Given the description of an element on the screen output the (x, y) to click on. 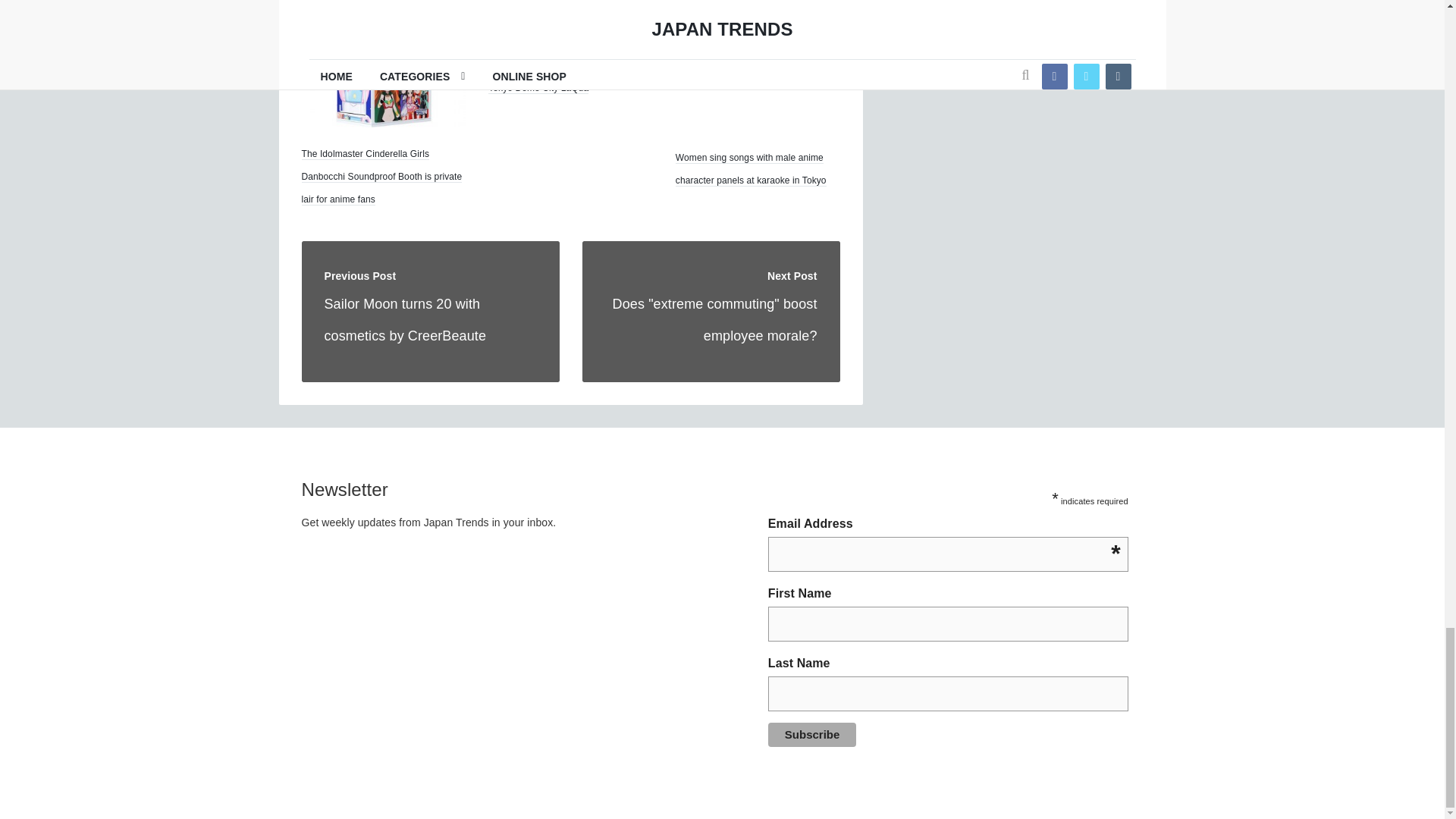
Subscribe (812, 734)
